Given the description of an element on the screen output the (x, y) to click on. 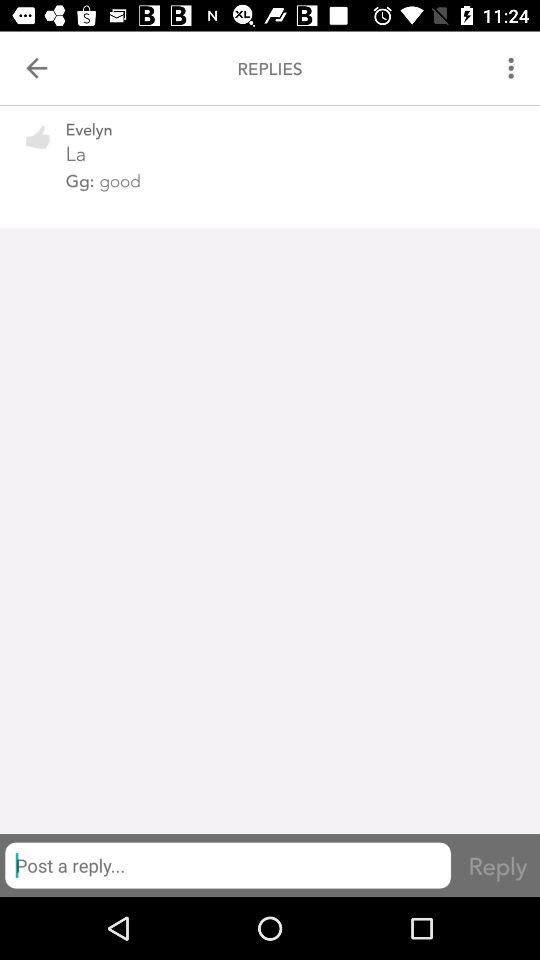
turn off item below gg: good
 item (227, 865)
